Given the description of an element on the screen output the (x, y) to click on. 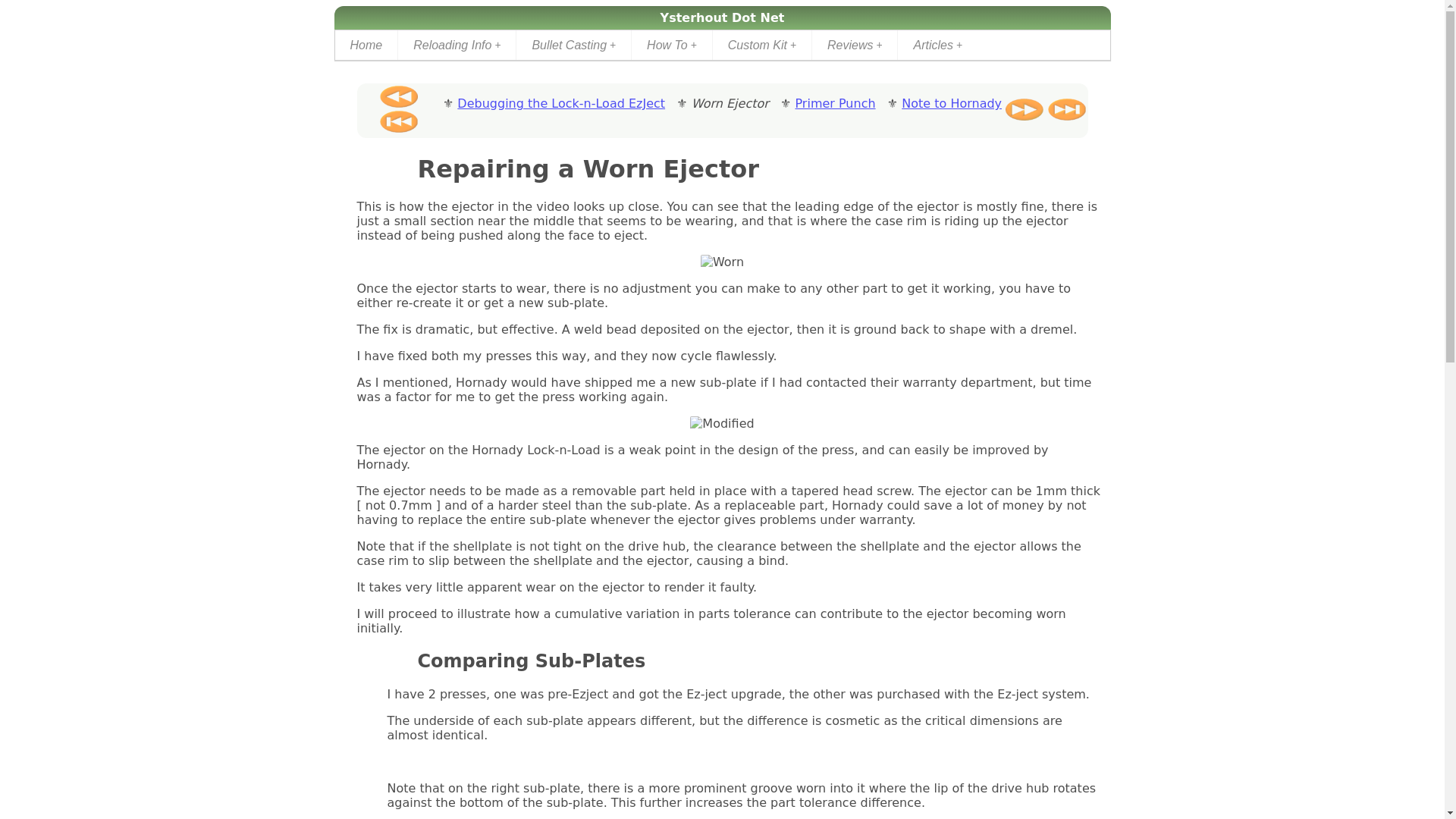
Home (365, 44)
